Given the description of an element on the screen output the (x, y) to click on. 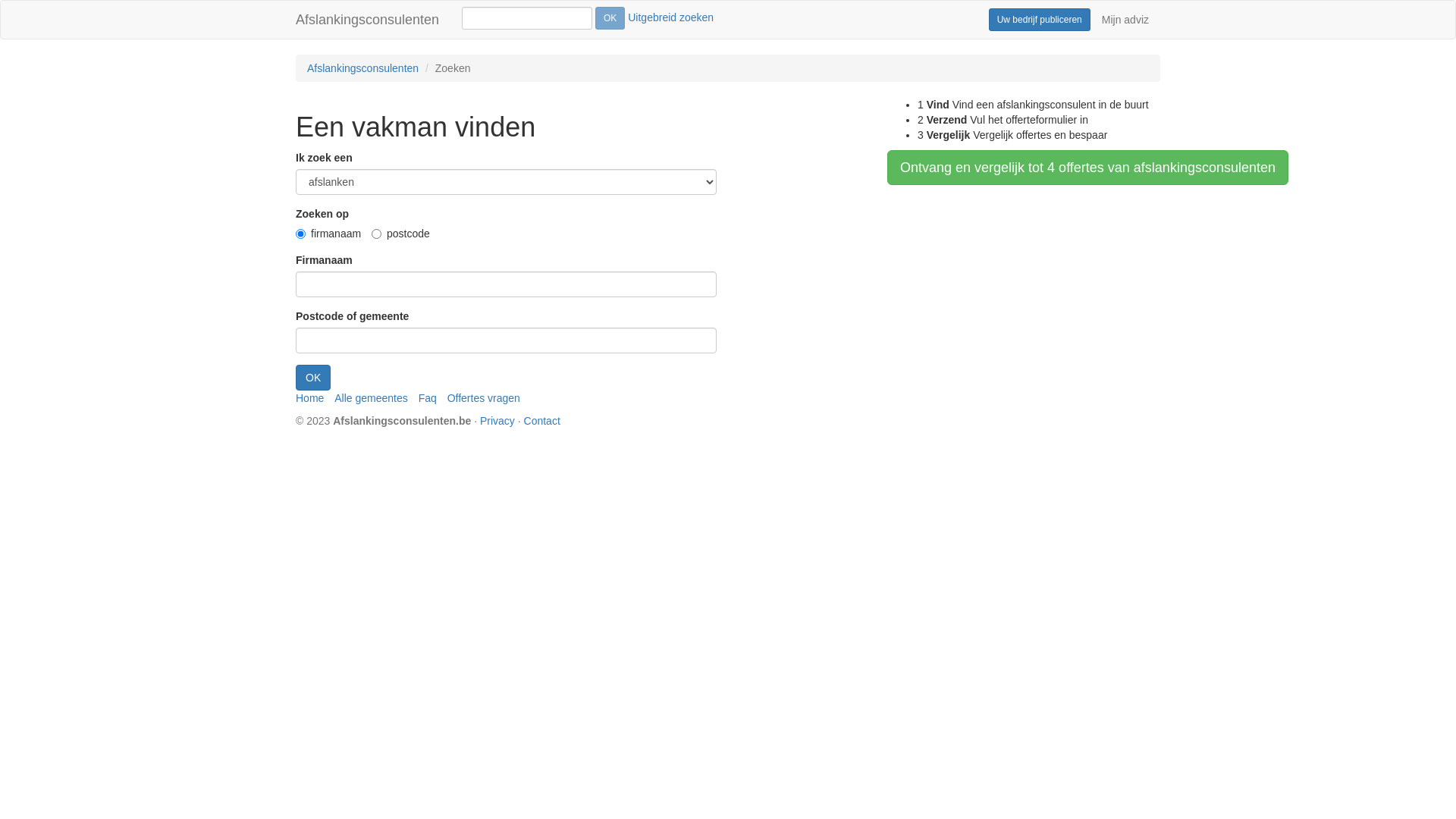
Uitgebreid zoeken Element type: text (670, 17)
Alle gemeentes Element type: text (370, 398)
Contact Element type: text (542, 420)
Home Element type: text (309, 398)
Uw bedrijf publiceren Element type: text (1039, 19)
Privacy Element type: text (497, 420)
OK Element type: text (312, 377)
Offertes vragen Element type: text (483, 398)
OK Element type: text (609, 17)
Faq Element type: text (427, 398)
Afslankingsconsulenten Element type: text (367, 19)
Afslankingsconsulenten Element type: text (362, 68)
Mijn adviz Element type: text (1125, 19)
